Given the description of an element on the screen output the (x, y) to click on. 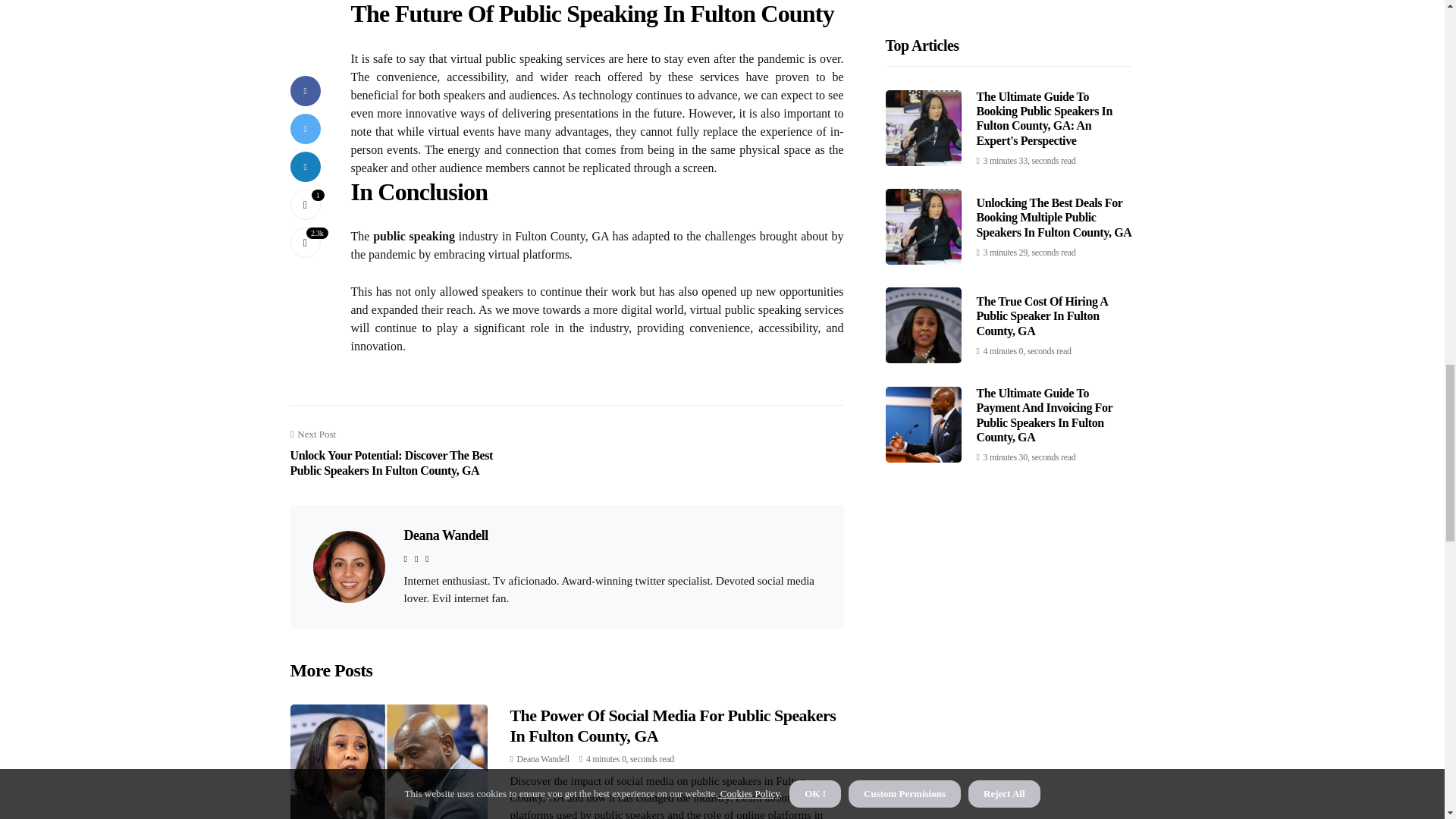
Deana Wandell (542, 758)
Posts by Deana Wandell (542, 758)
Deana Wandell (445, 534)
